Given the description of an element on the screen output the (x, y) to click on. 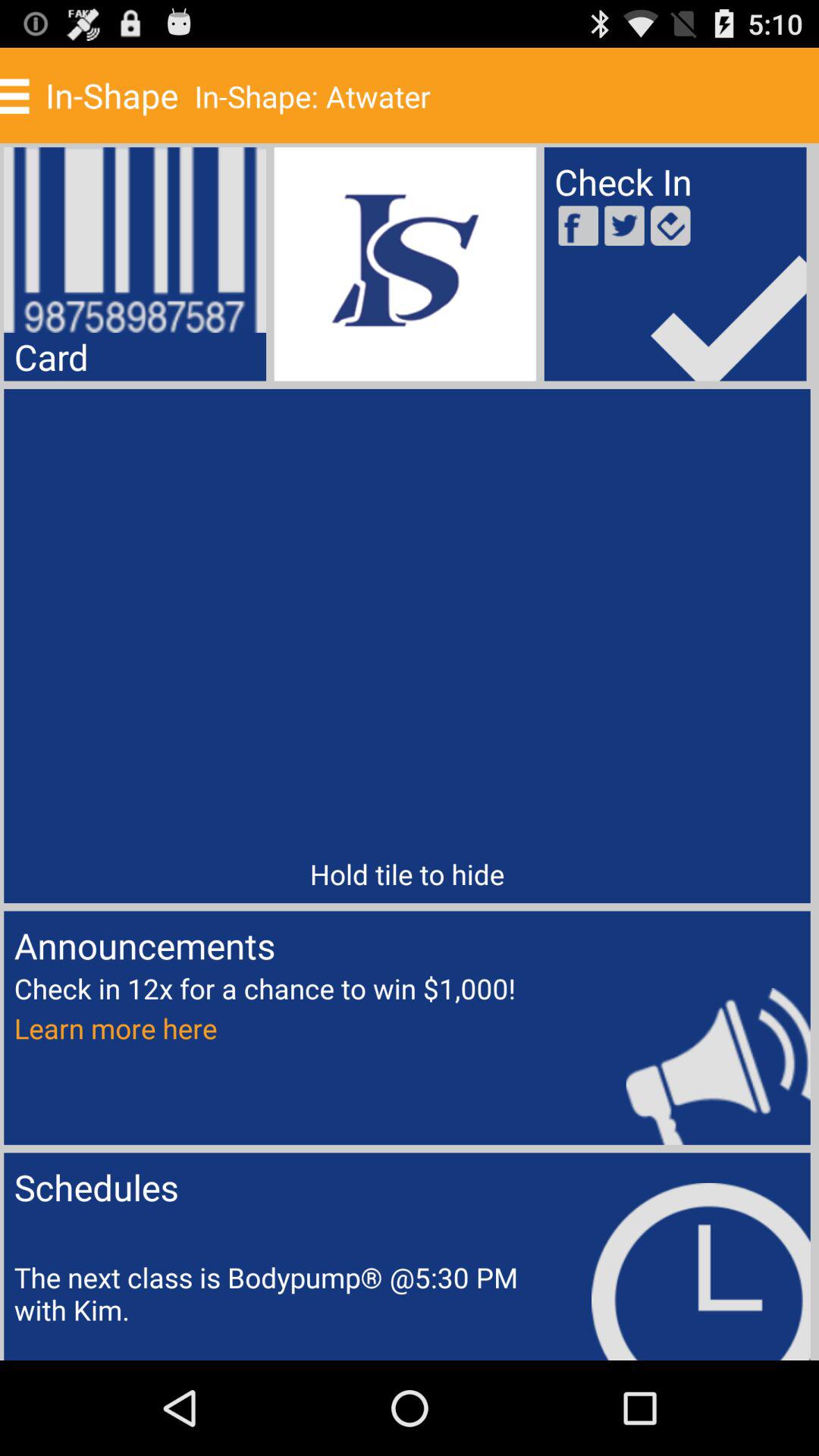
select the icon which is above the clock (669, 1056)
select the icon which is left side of the check in (405, 264)
click on the facebook icon (578, 226)
